Given the description of an element on the screen output the (x, y) to click on. 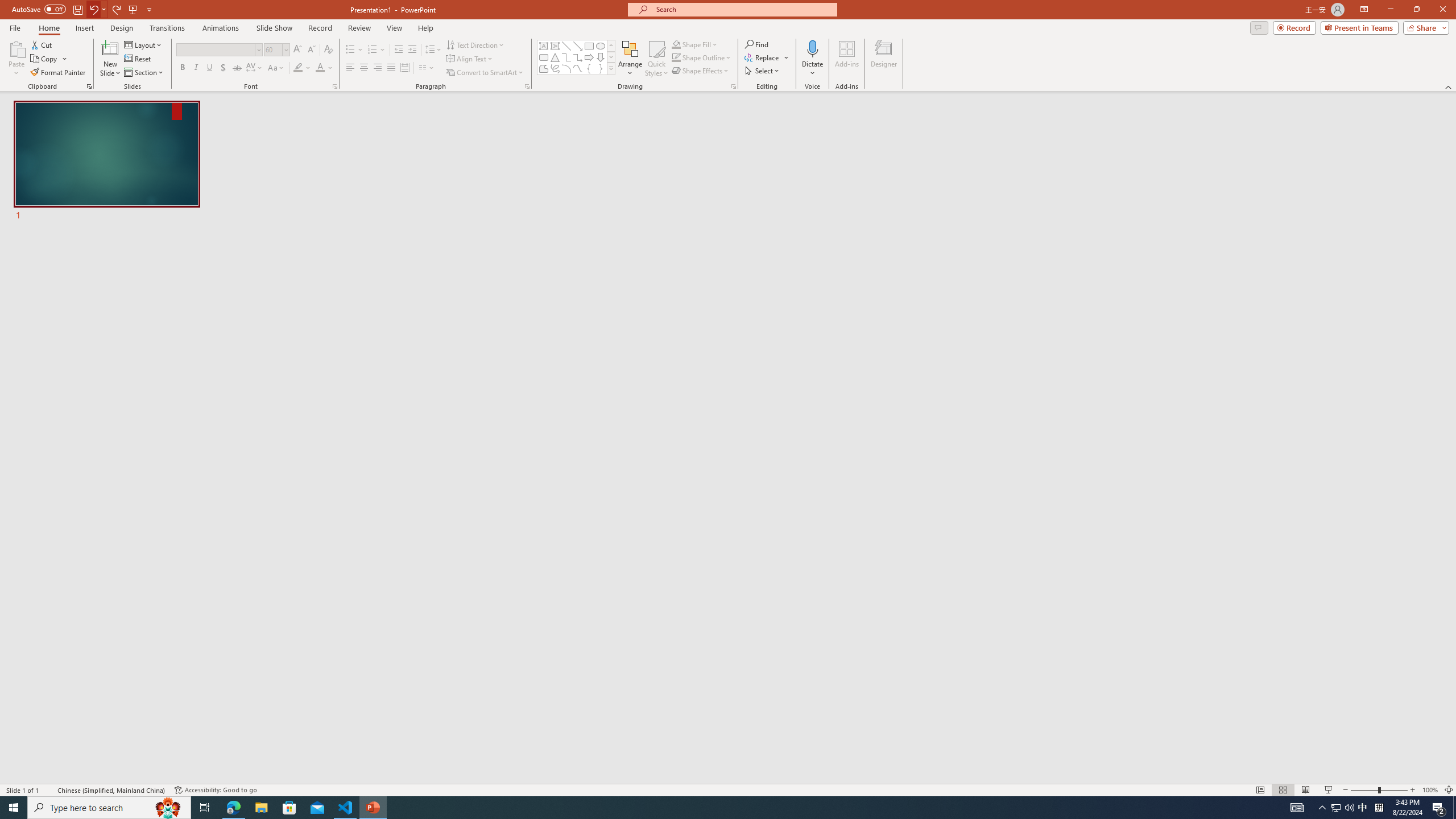
Shape Effects (700, 69)
